Given the description of an element on the screen output the (x, y) to click on. 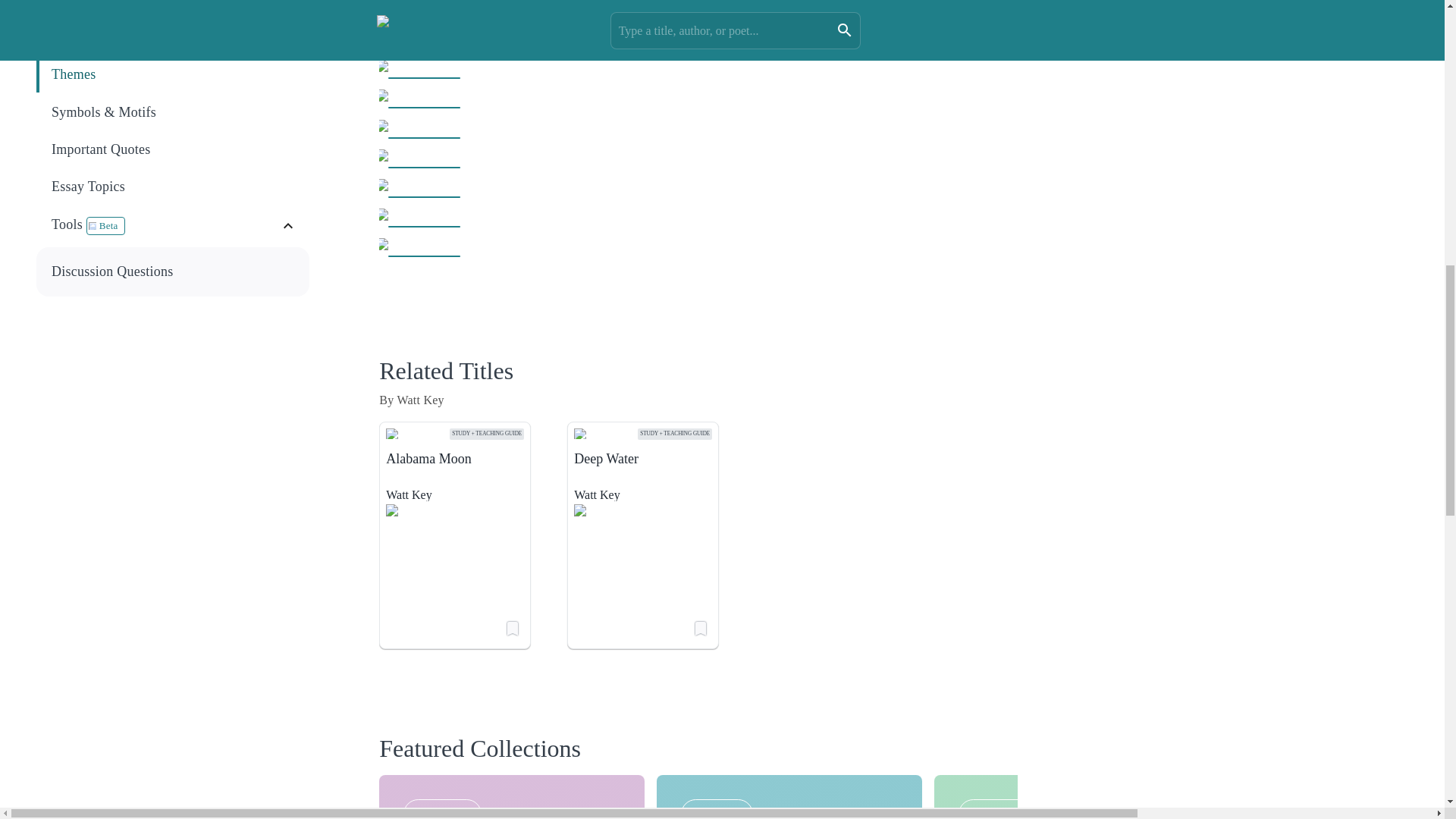
Discussion Questions (172, 271)
Important Quotes (172, 149)
the swamp (728, 2)
Essay Topics (172, 186)
Chapters 42-46 (172, 4)
Themes (172, 74)
Character Analysis (173, 37)
Essay Topics (173, 186)
Themes (173, 74)
Tools (164, 226)
Important Quotes (173, 149)
Character Analysis (172, 37)
Discussion Questions (173, 271)
